Given the description of an element on the screen output the (x, y) to click on. 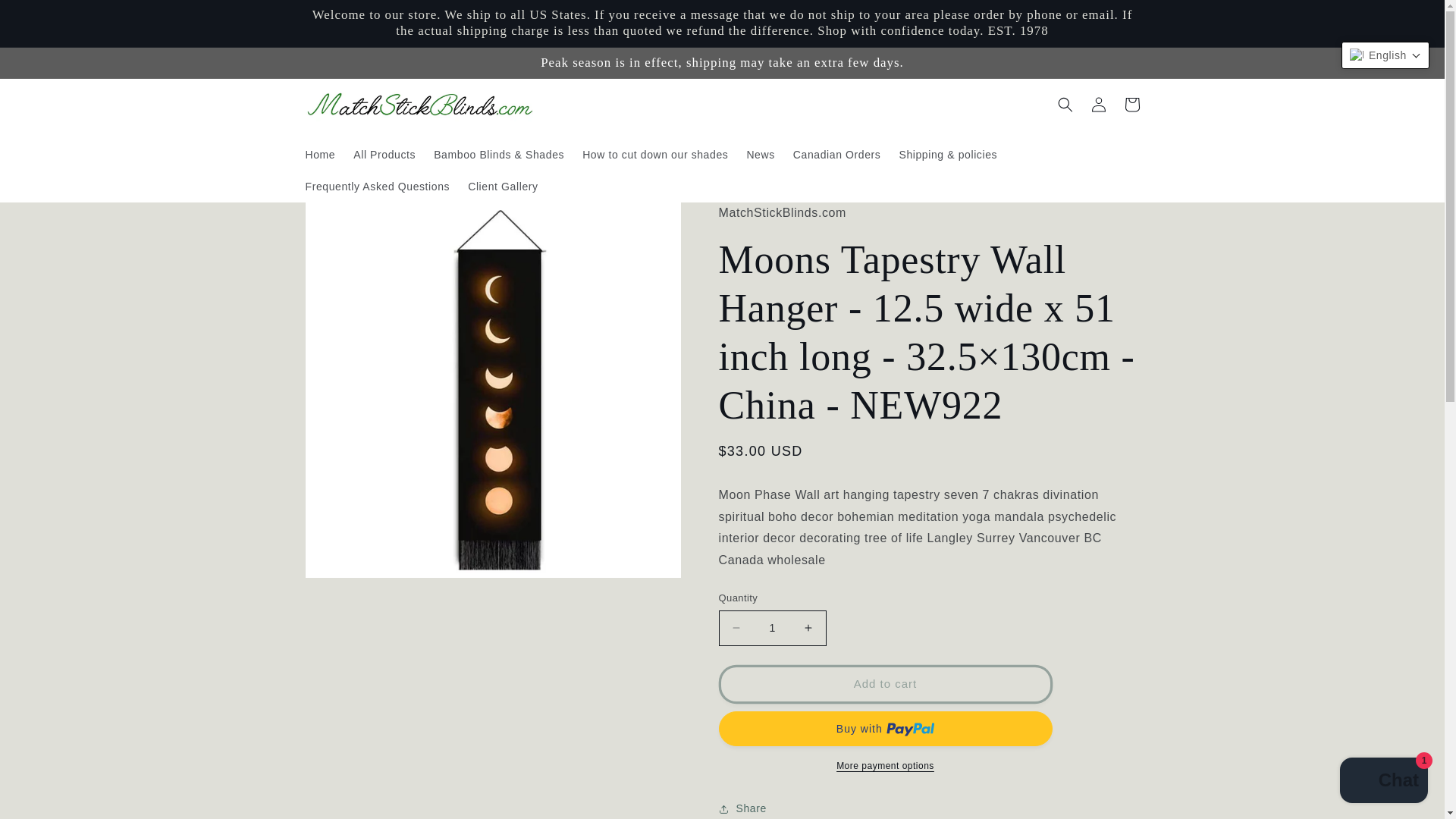
All Products (384, 154)
Frequently Asked Questions (376, 186)
Canadian Orders (836, 154)
Skip to content (47, 18)
Skip to product information (352, 220)
Shopify online store chat (1383, 781)
How to cut down our shades (654, 154)
Client Gallery (502, 186)
Log in (1098, 104)
Cart (1131, 104)
News (759, 154)
1 (773, 628)
Home (319, 154)
